Given the description of an element on the screen output the (x, y) to click on. 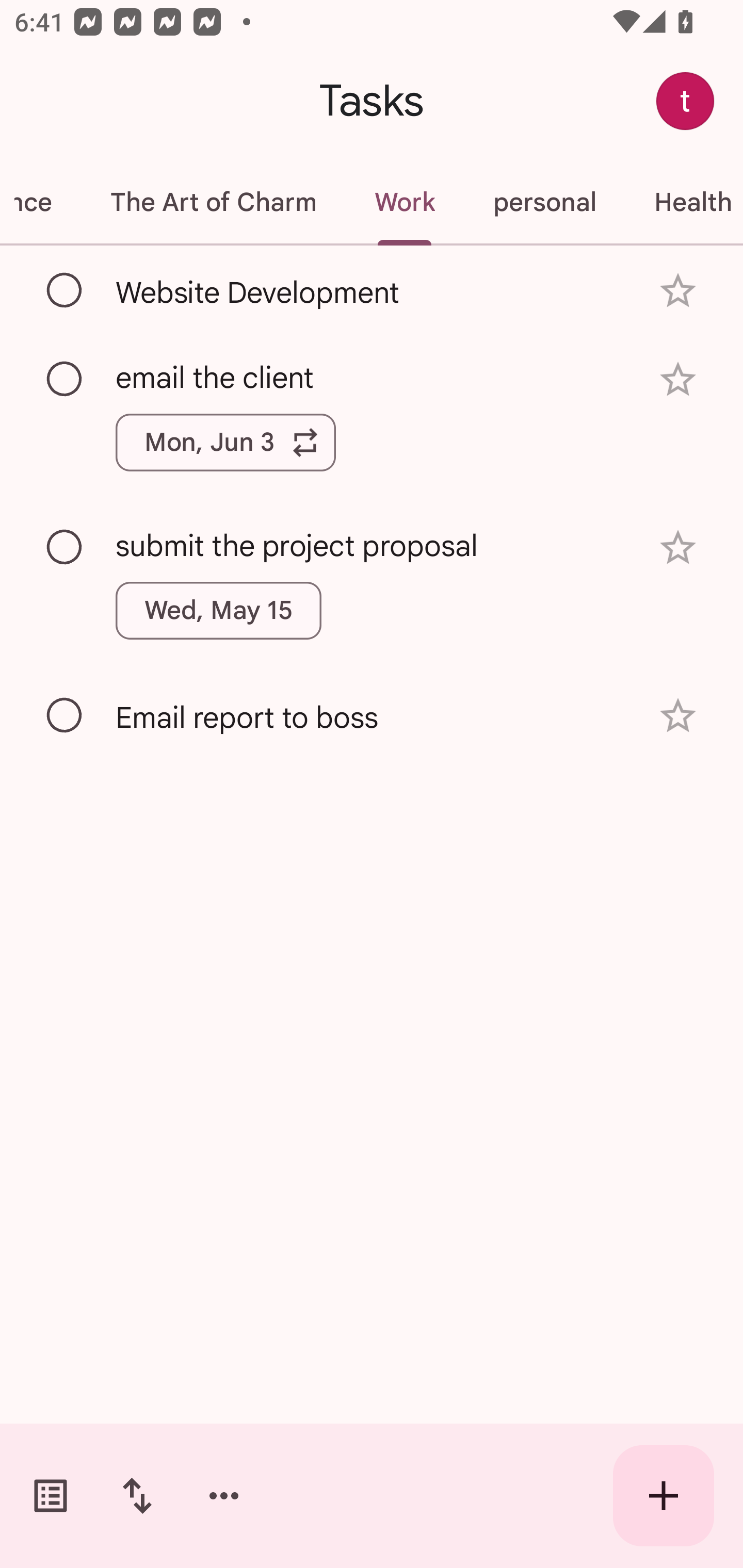
The Art of Charm (212, 202)
personal (543, 202)
Health (683, 202)
Add star (677, 290)
Mark as complete (64, 290)
Add star (677, 379)
Mark as complete (64, 379)
Mon, Jun 3 (225, 442)
Add star (677, 547)
Mark as complete (64, 547)
Wed, May 15 (218, 610)
Add star (677, 715)
Mark as complete (64, 715)
Switch task lists (50, 1495)
Create new task (663, 1495)
Change sort order (136, 1495)
More options (223, 1495)
